Given the description of an element on the screen output the (x, y) to click on. 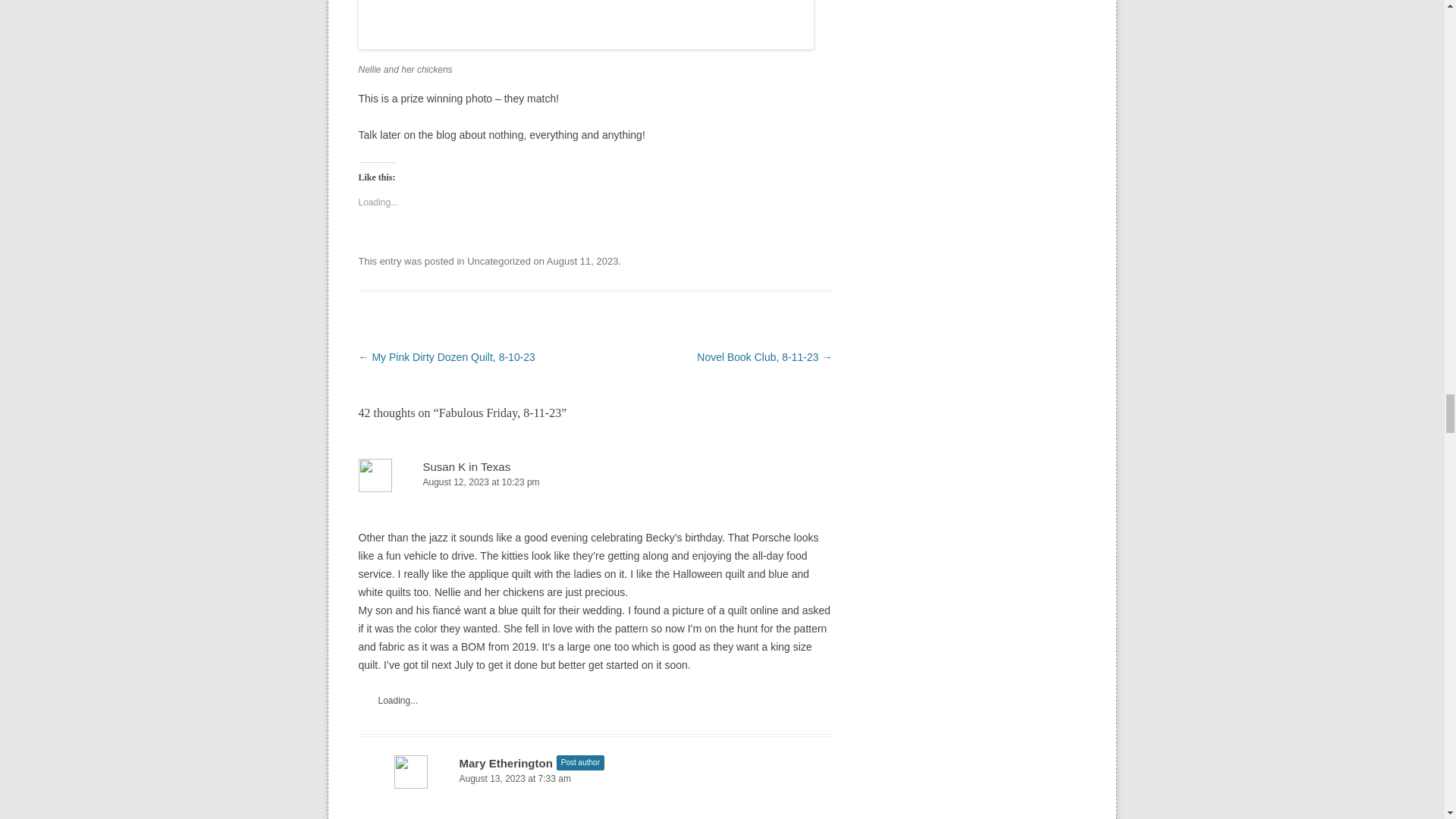
August 13, 2023 at 7:33 am (612, 779)
10:19 am (582, 260)
August 11, 2023 (582, 260)
August 12, 2023 at 10:23 pm (594, 482)
Uncategorized (499, 260)
